Given the description of an element on the screen output the (x, y) to click on. 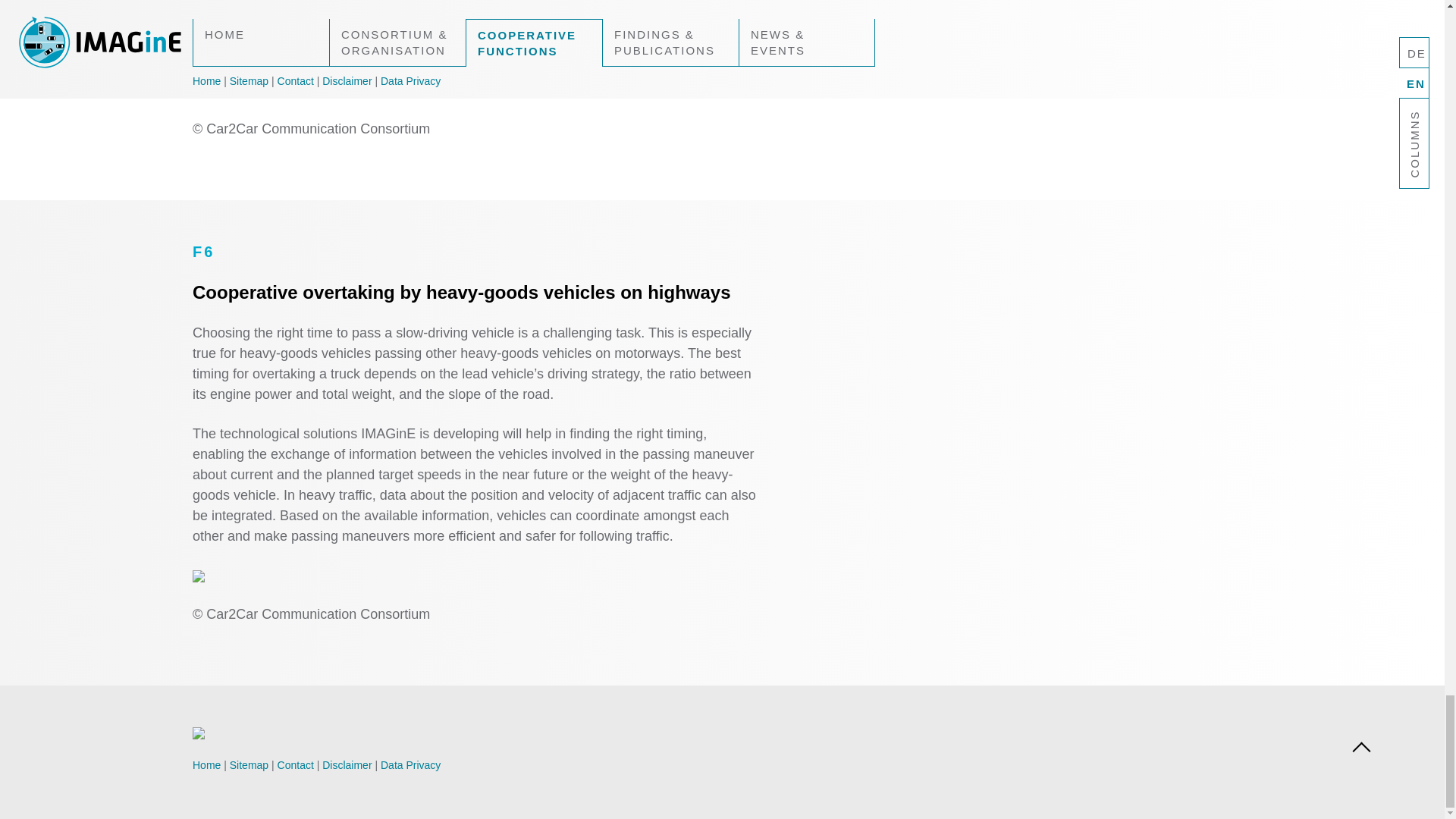
Data Privacy (410, 765)
Sitemap (248, 765)
Home (206, 765)
Disclaimer (346, 765)
Contact (296, 765)
